Given the description of an element on the screen output the (x, y) to click on. 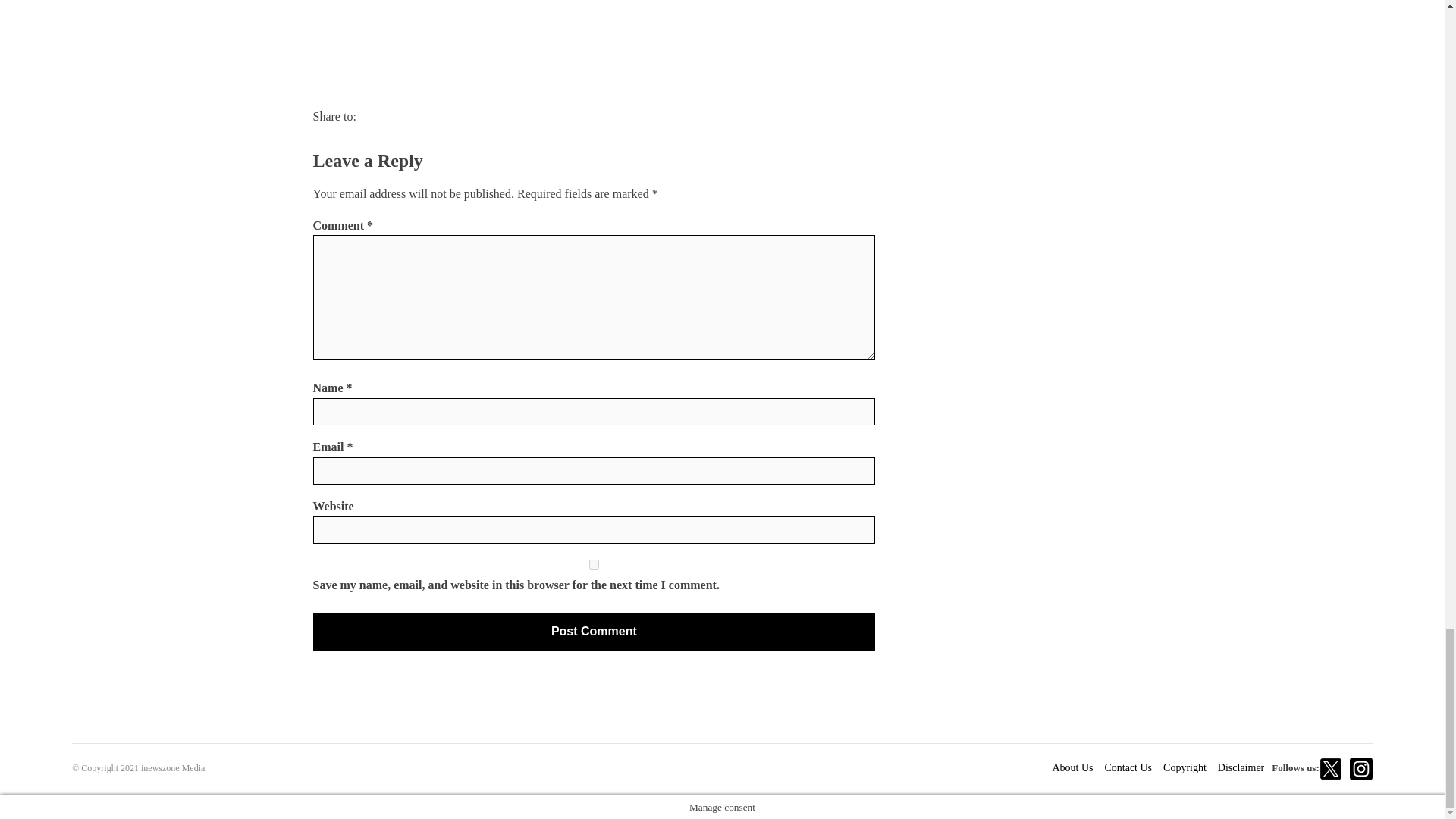
Post Comment (594, 631)
yes (594, 564)
